Given the description of an element on the screen output the (x, y) to click on. 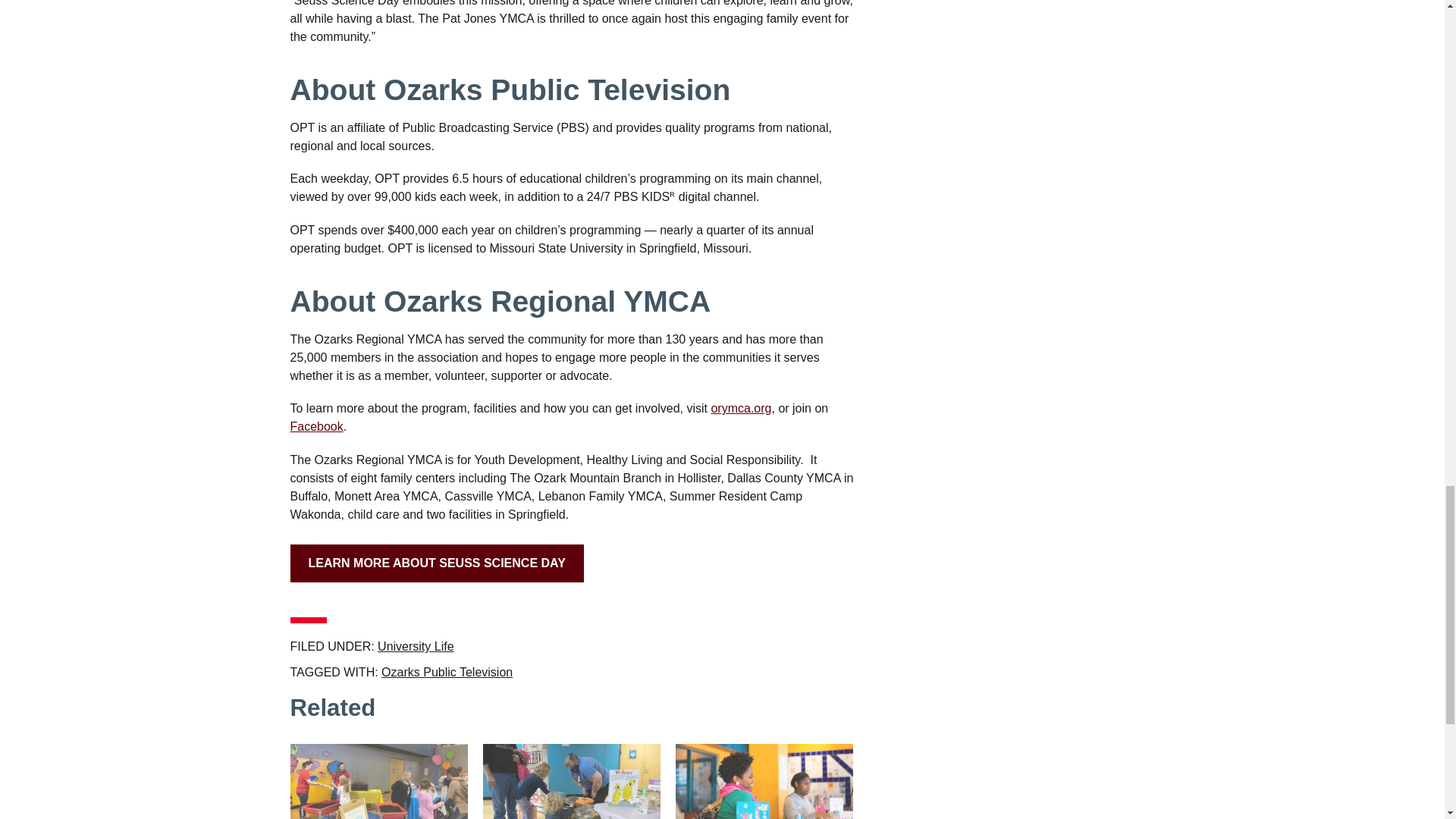
Ozarks Public Television celebrates Dr. Seuss (764, 781)
